Given the description of an element on the screen output the (x, y) to click on. 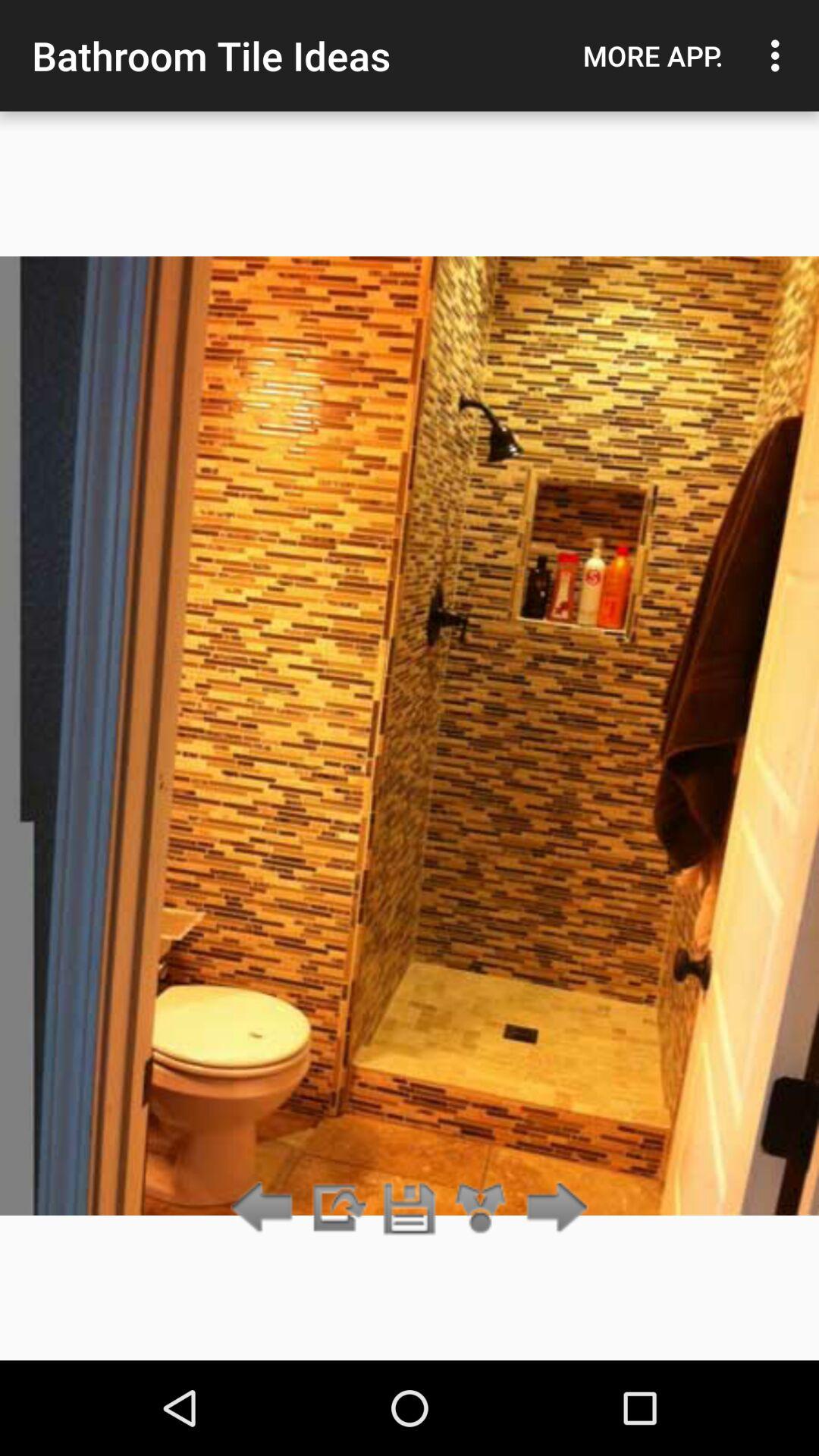
this button takes you back one screen (266, 1209)
